Given the description of an element on the screen output the (x, y) to click on. 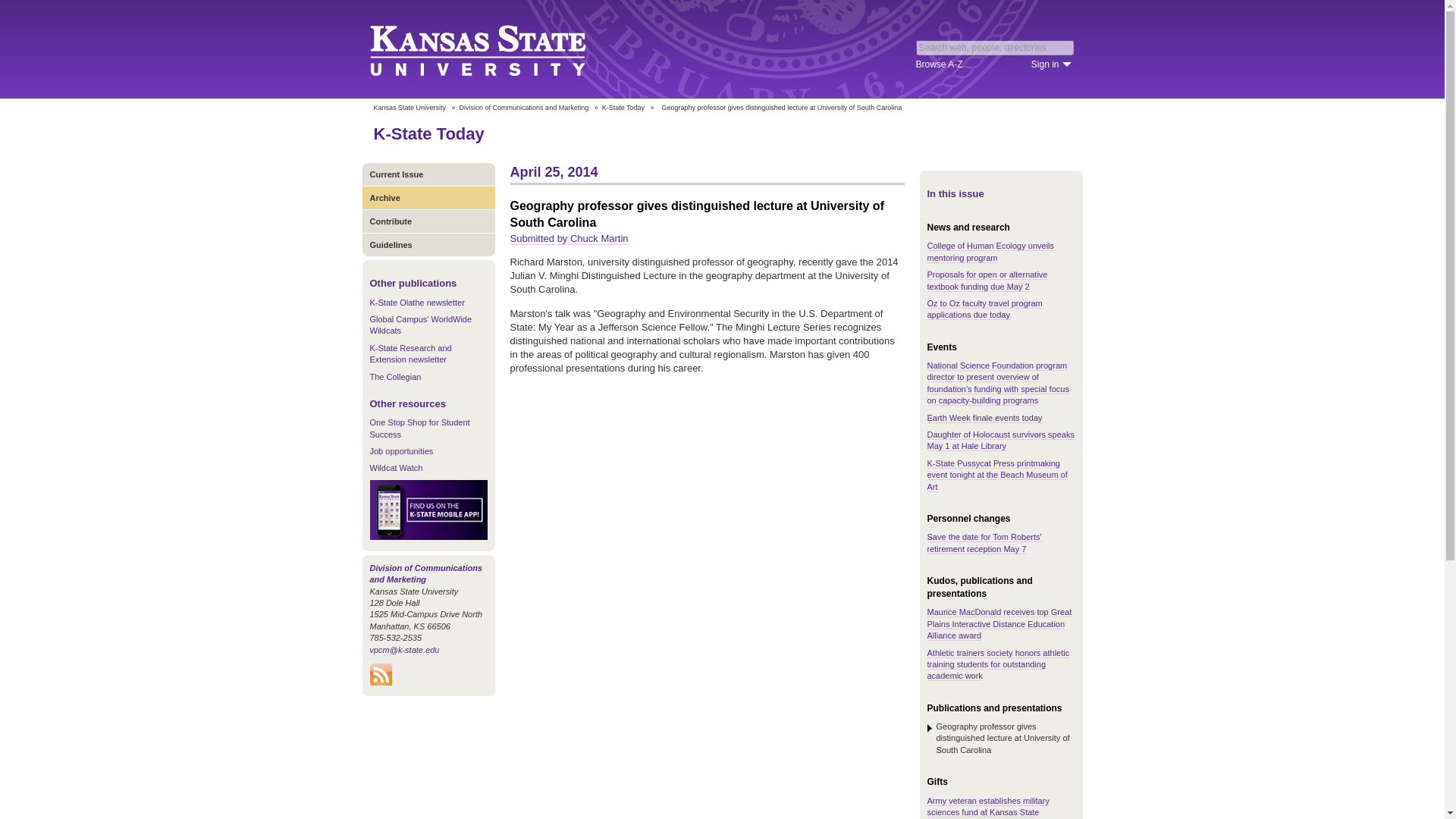
Contribute (428, 220)
Kansas State University (408, 107)
K-State Research and Extension newsletter (410, 353)
Division of Communications and Marketing (524, 107)
Search web, people, directories (994, 47)
K-State Olathe newsletter (416, 302)
College of Human Ecology unveils mentoring program (990, 251)
Earth Week finale events today (984, 418)
Global Campus' WorldWide Wildcats (420, 324)
